Given the description of an element on the screen output the (x, y) to click on. 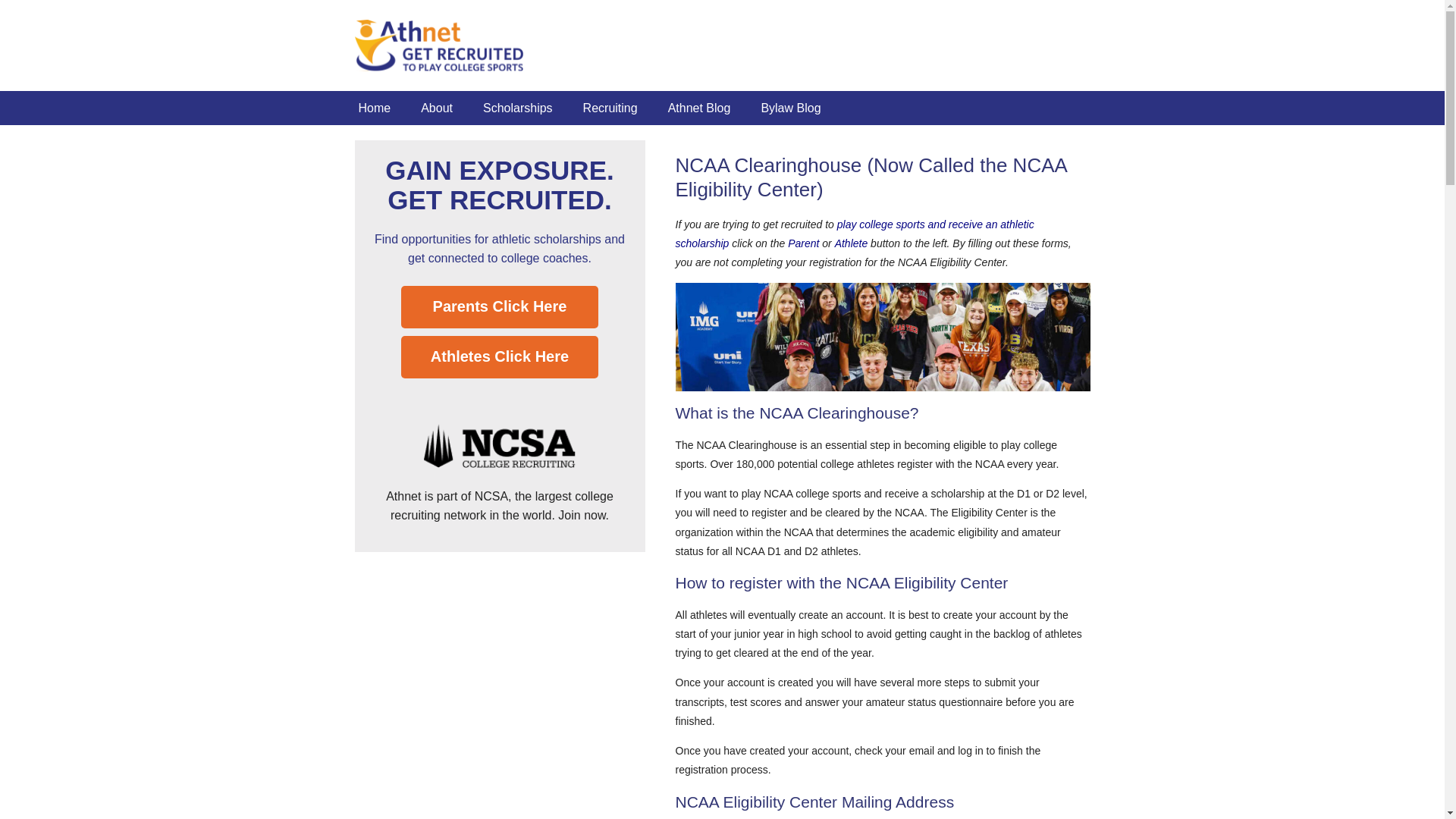
Bylaw Blog (790, 107)
Athletes Click Here (499, 356)
Recruiting (609, 107)
Scholarships (517, 107)
Athnet Blog (698, 107)
Parents Click Here (499, 306)
Home (374, 107)
About (436, 107)
